Given the description of an element on the screen output the (x, y) to click on. 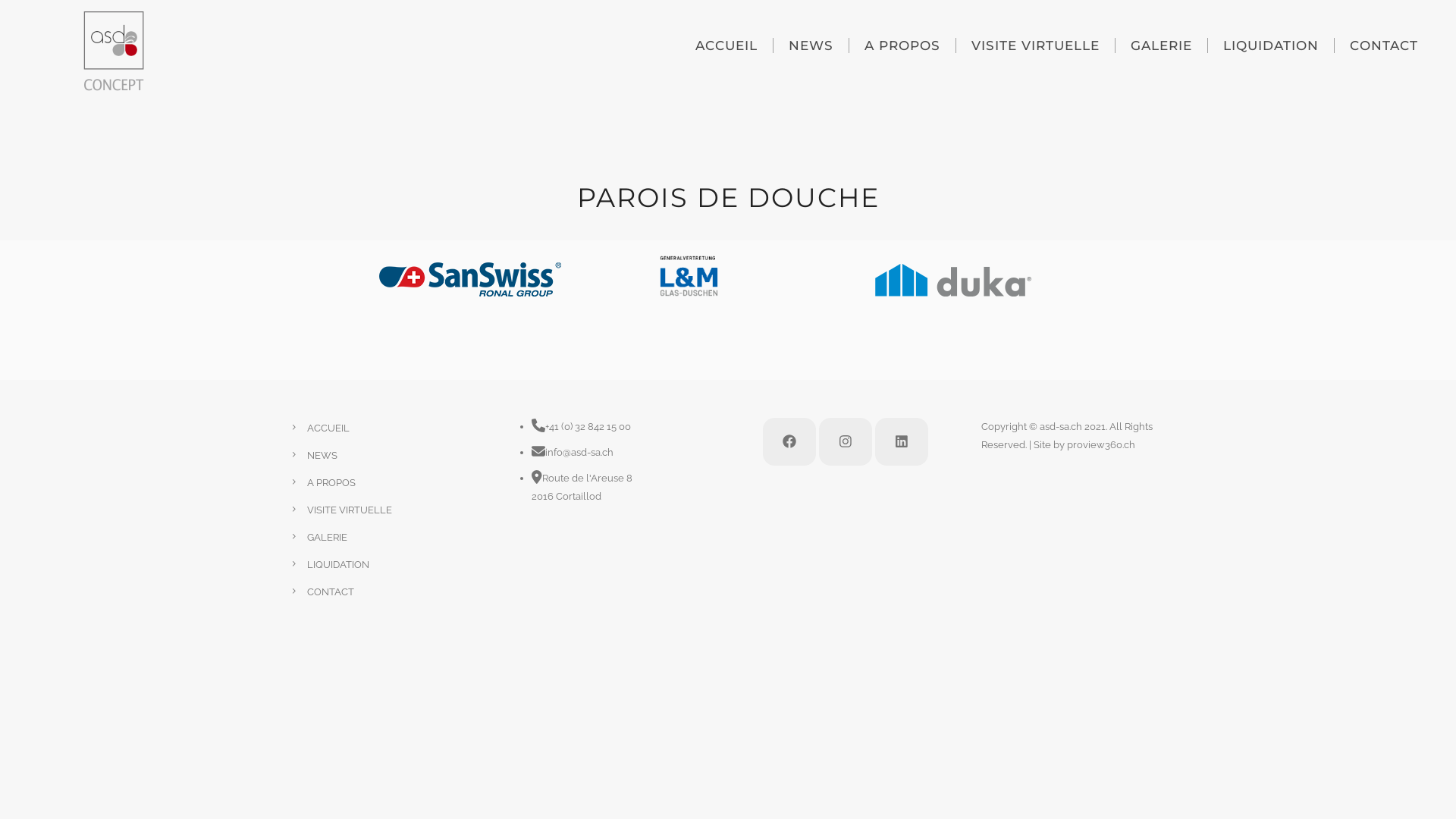
proview360.ch Element type: text (1100, 444)
https://www.facebook.com/ASDconceptsa Element type: hover (788, 441)
VISITE VIRTUELLE Element type: text (1035, 45)
LIQUIDATION Element type: text (338, 564)
info@asd-sa.ch Element type: text (579, 452)
https://www.linkedin.com/company/71685628 Element type: hover (901, 441)
https://www.instagram.com/asdconceptsa Element type: hover (845, 441)
GALERIE Element type: text (1161, 45)
ACCUEIL Element type: text (328, 427)
VISITE VIRTUELLE Element type: text (349, 509)
CONTACT Element type: text (1383, 45)
NEWS Element type: text (322, 455)
+41 (0) 32 842 15 00 Element type: text (587, 426)
lm_logo Element type: hover (688, 275)
duka_logo Element type: hover (953, 279)
A PROPOS Element type: text (331, 482)
CONTACT Element type: text (330, 591)
NEWS Element type: text (810, 45)
SanSwiss_logo Element type: hover (470, 279)
GALERIE Element type: text (327, 536)
LIQUIDATION Element type: text (1270, 45)
asd-sa.ch Element type: text (1059, 426)
A PROPOS Element type: text (902, 45)
ACCUEIL Element type: text (726, 45)
